Given the description of an element on the screen output the (x, y) to click on. 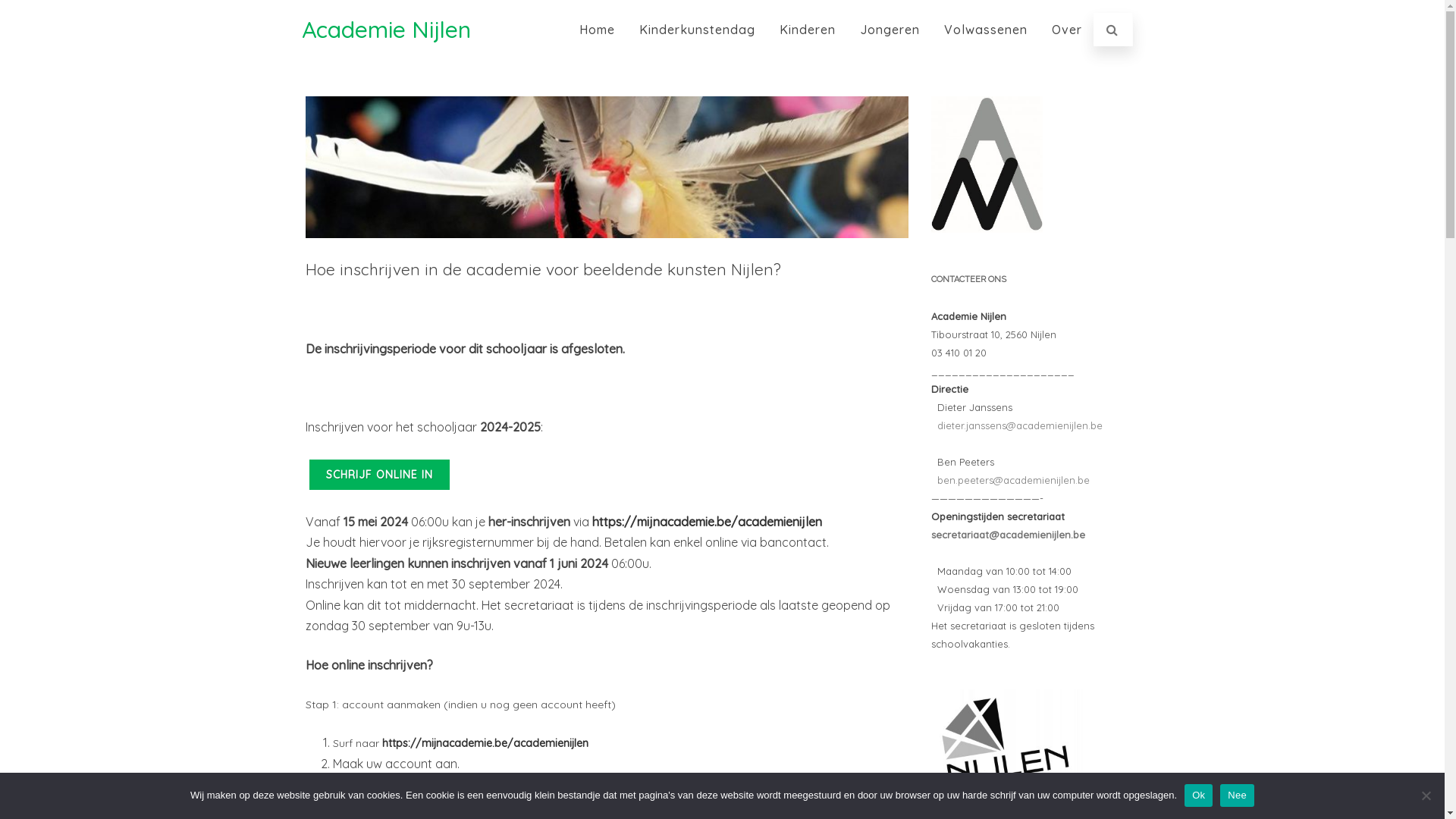
Home Element type: text (596, 29)
Jongeren Element type: text (888, 29)
Ok Element type: text (1198, 795)
Kinderkunstendag Element type: text (696, 29)
https://mijnacademie.be/academienijlen Element type: text (706, 521)
SCHRIJF ONLINE IN Element type: text (379, 474)
Volwassenen Element type: text (985, 29)
  ben.peeters@academienijlen.be Element type: text (1010, 479)
Nee Element type: hover (1425, 795)
Kinderen Element type: text (806, 29)
Academie Nijlen Element type: text (385, 29)
Over Element type: text (1066, 29)
Nee Element type: text (1237, 795)
secretariaat@academienijlen.be Element type: text (1008, 534)
  dieter.janssens@academienijlen.be Element type: text (1016, 425)
https://mijnacademie.be/academienijlen  Element type: text (486, 742)
